Given the description of an element on the screen output the (x, y) to click on. 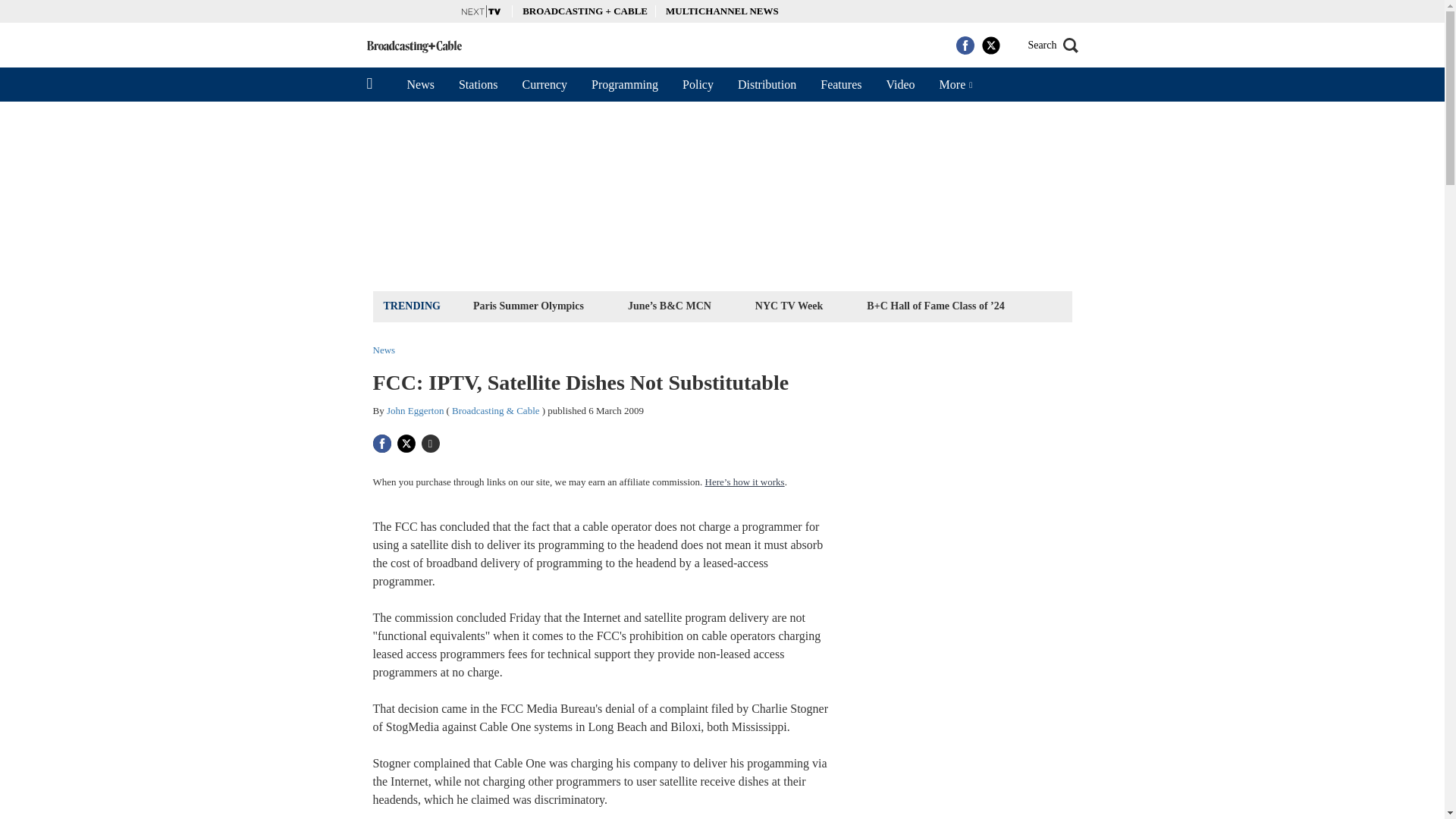
Features (840, 84)
NYC TV Week (788, 305)
MULTICHANNEL NEWS (721, 10)
Paris Summer Olympics (528, 305)
Distribution (766, 84)
Currency (544, 84)
Stations (478, 84)
Programming (624, 84)
Policy (697, 84)
News (419, 84)
Video (899, 84)
John Eggerton (415, 410)
